Given the description of an element on the screen output the (x, y) to click on. 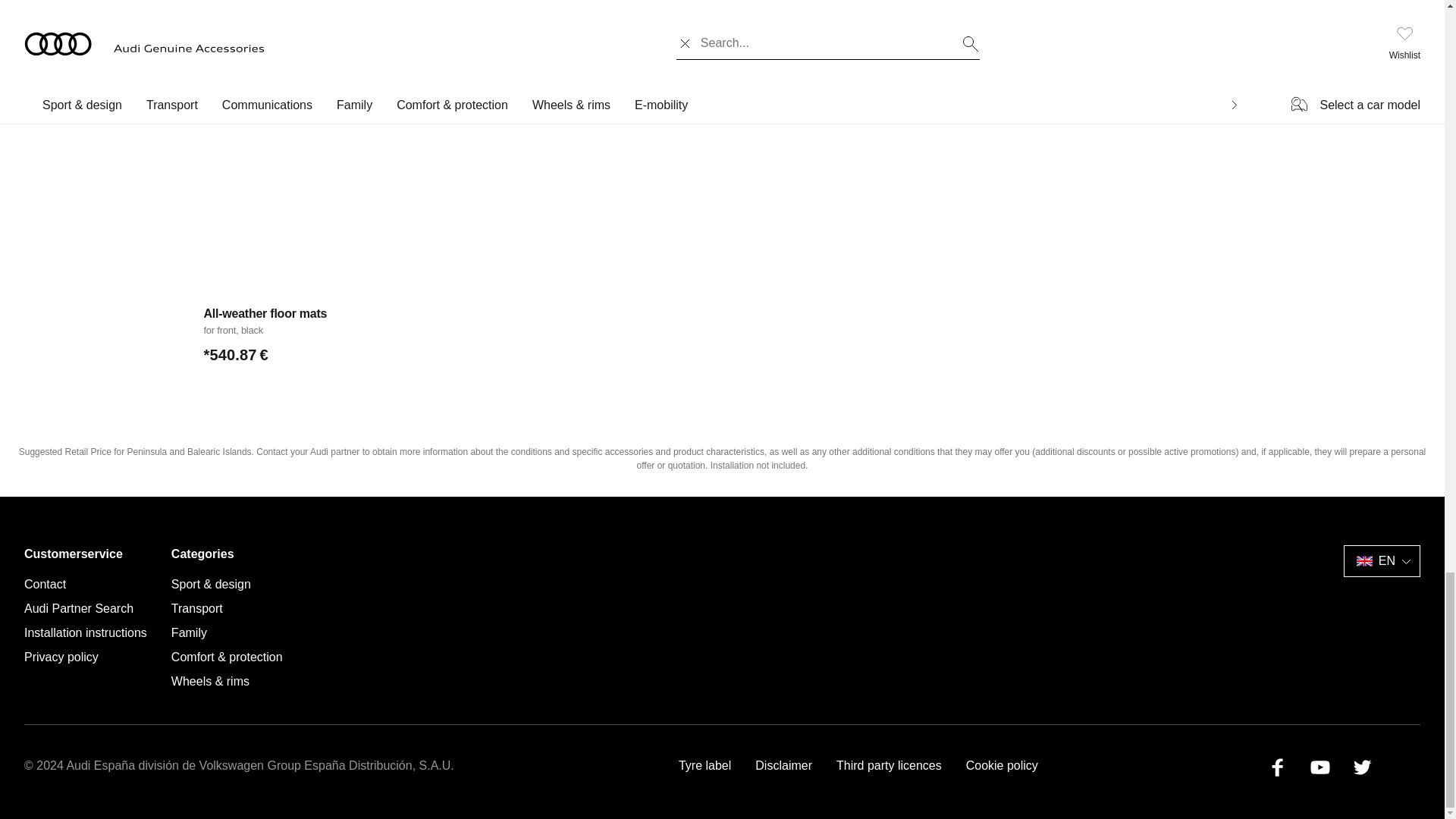
Family (188, 632)
Contact (44, 584)
Audi Partner Search (78, 608)
Installation instructions (85, 632)
Transport (196, 608)
Privacy policy (61, 657)
